Given the description of an element on the screen output the (x, y) to click on. 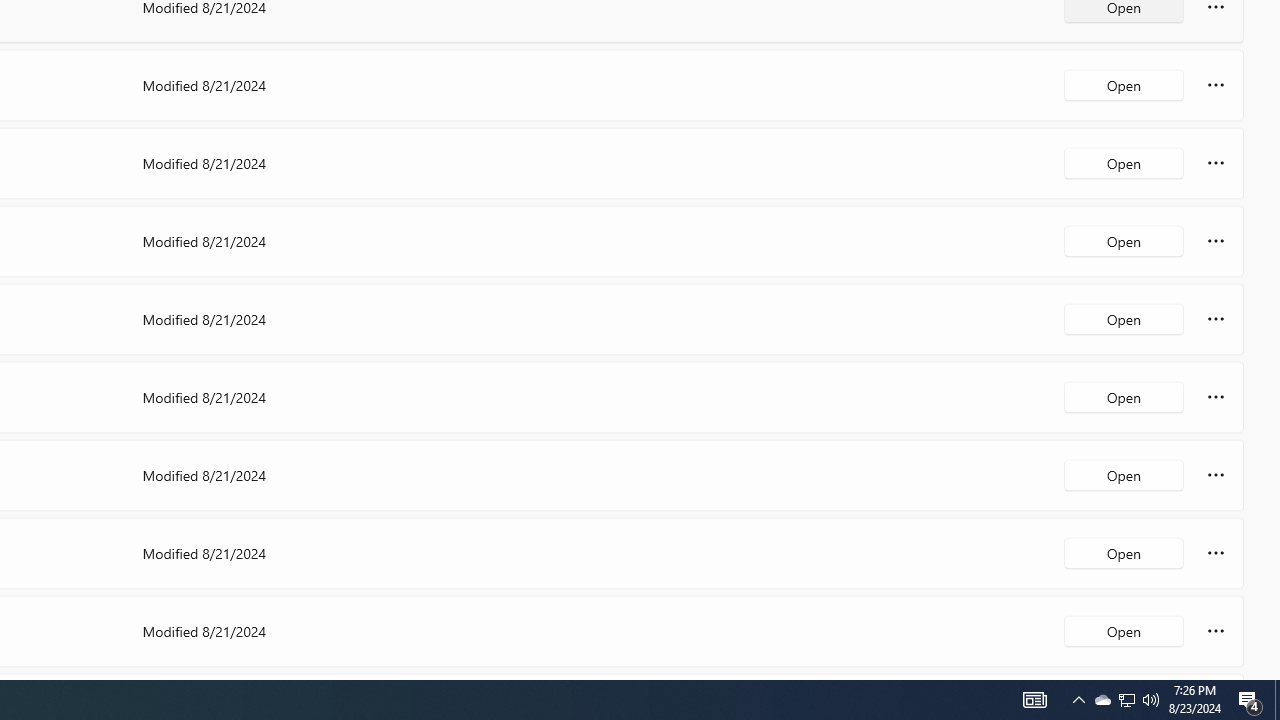
Vertical Small Increase (1272, 672)
More options (1215, 630)
Open (1123, 630)
